Given the description of an element on the screen output the (x, y) to click on. 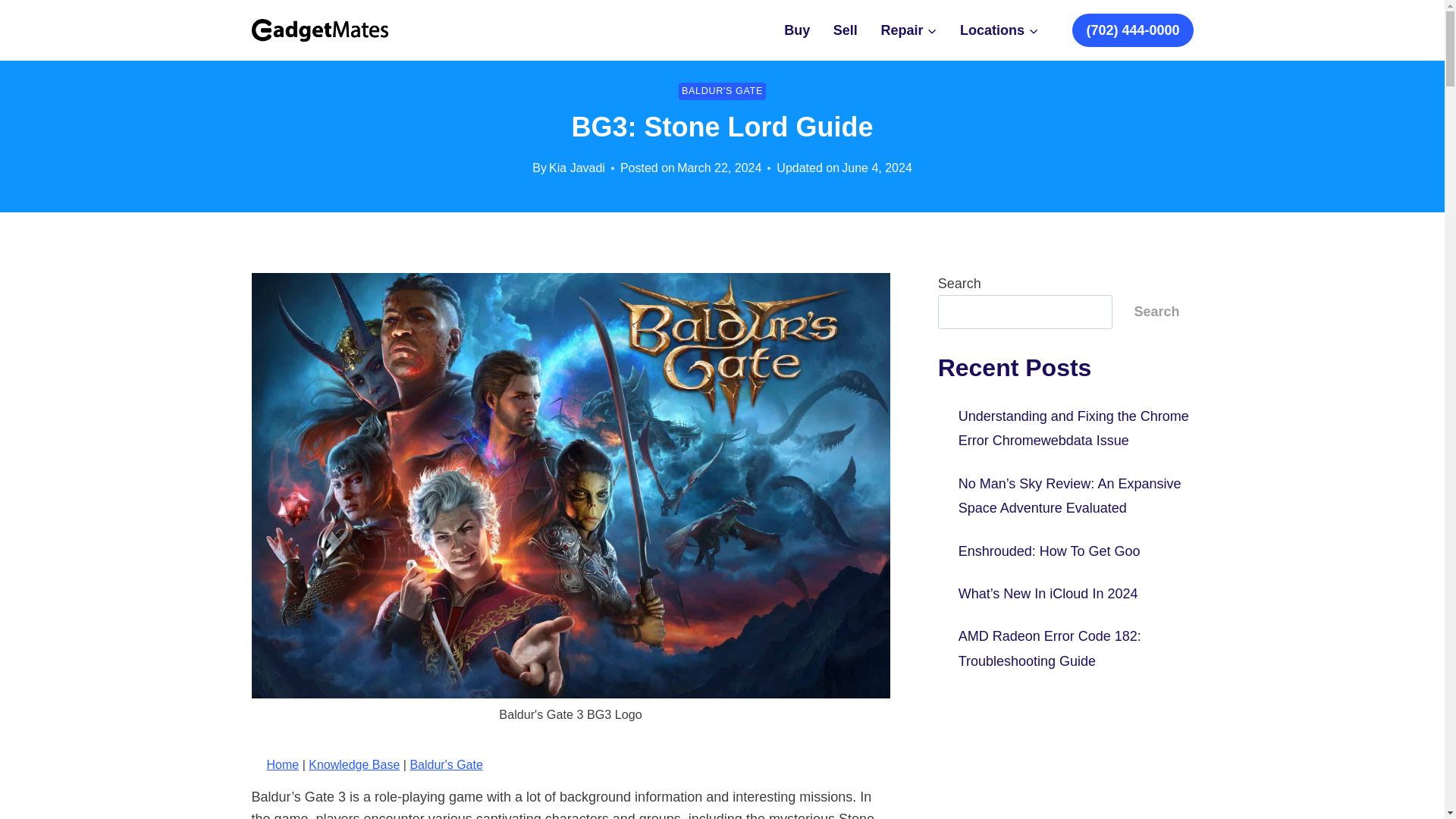
Knowledge Base (353, 764)
Baldur's Gate (445, 764)
BALDUR'S GATE (721, 90)
Sell (845, 30)
Kia Javadi (576, 167)
Buy (797, 30)
Repair (909, 30)
Locations (999, 30)
Home (282, 764)
